Given the description of an element on the screen output the (x, y) to click on. 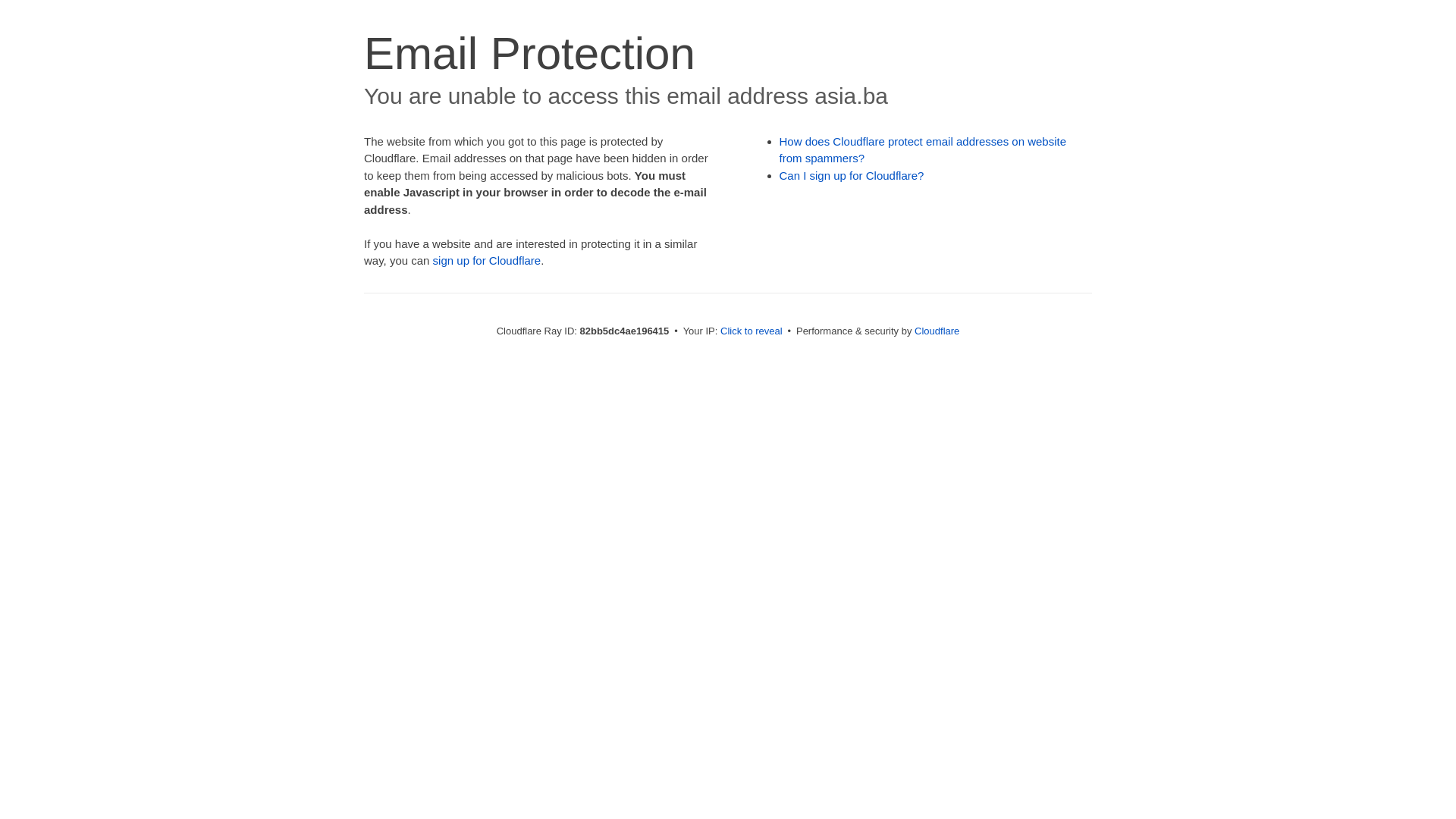
Click to reveal Element type: text (751, 330)
sign up for Cloudflare Element type: text (487, 260)
Can I sign up for Cloudflare? Element type: text (851, 175)
Cloudflare Element type: text (936, 330)
